Given the description of an element on the screen output the (x, y) to click on. 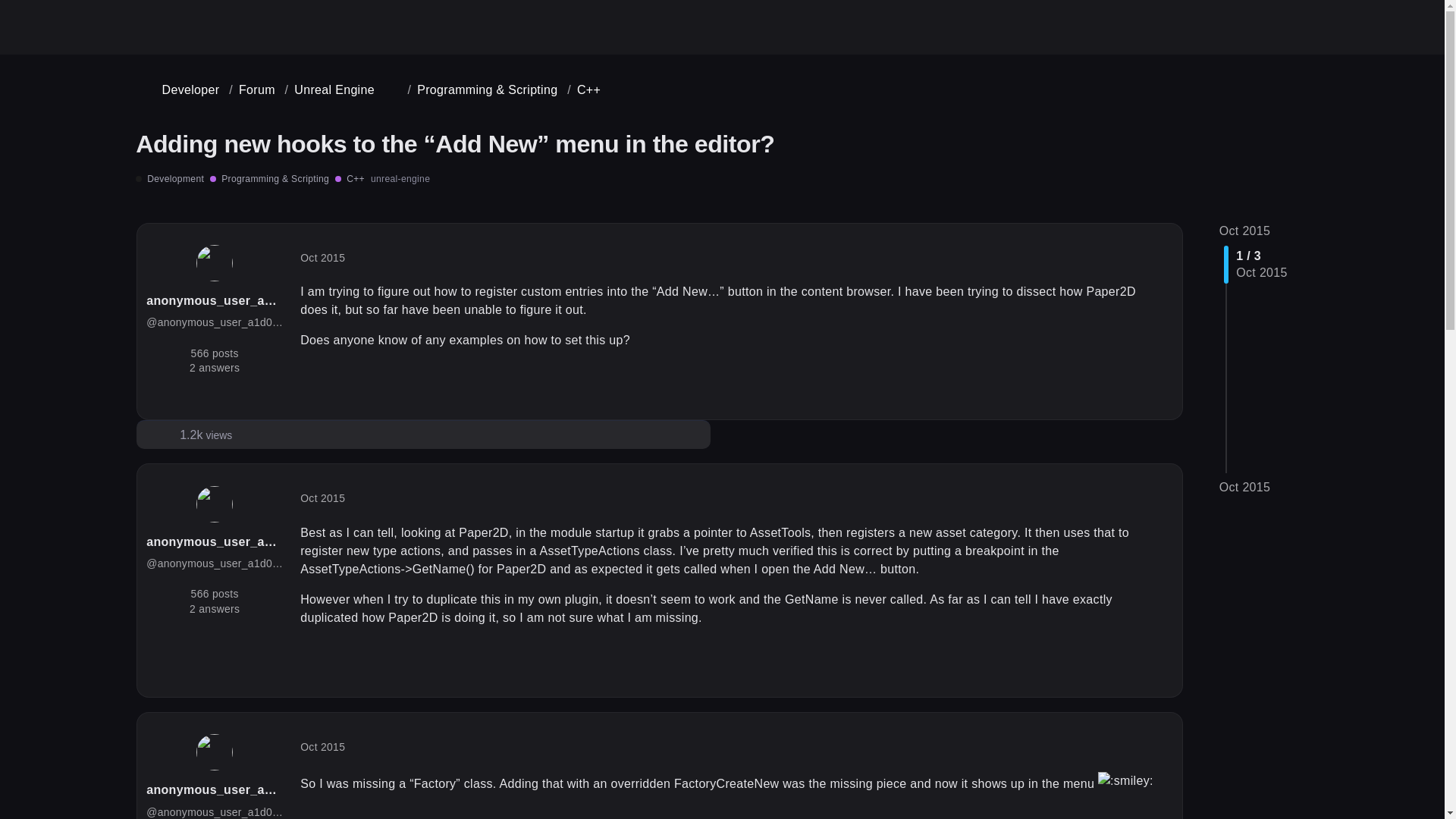
like this post (1125, 669)
Developer (179, 89)
Oct 2015 (322, 257)
Jump to the last post (1245, 486)
like this post (1125, 392)
Forum (251, 89)
Development (169, 178)
copy a link to this post to clipboard (1156, 392)
Oct 2015 (1245, 230)
unreal-engine (400, 178)
